Given the description of an element on the screen output the (x, y) to click on. 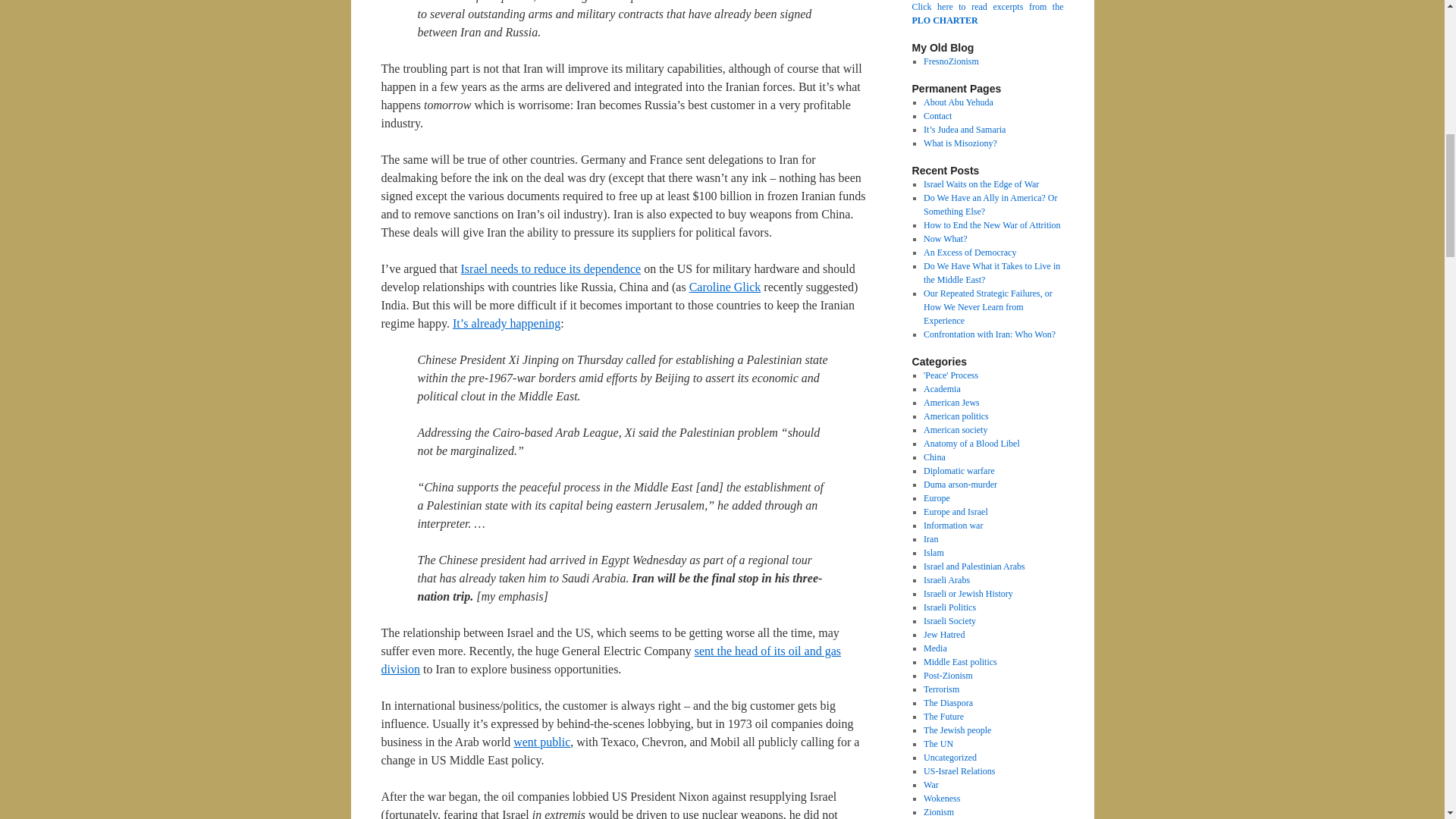
went public (541, 741)
FresnoZionism (950, 61)
Click here to read excerpts from the PLO CHARTER (986, 13)
Caroline Glick (724, 286)
What is Misoziony? (960, 143)
PLO Charter excerpts (986, 13)
Israel needs to reduce its dependence (551, 268)
About Abu Yehuda (957, 102)
sent the head of its oil and gas division (610, 659)
Contact (937, 115)
